Given the description of an element on the screen output the (x, y) to click on. 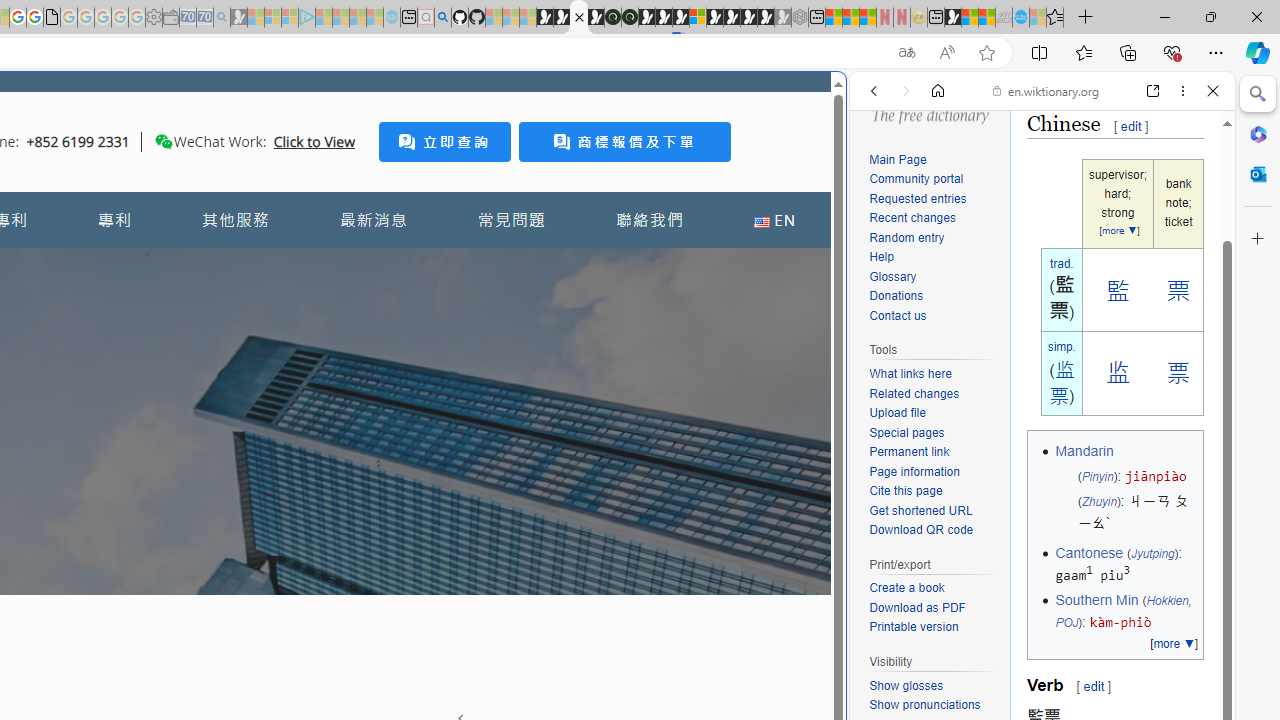
en.wiktionary.org (1046, 90)
Southern Min (1096, 600)
Requested entries (917, 197)
Random entry (906, 236)
Donations (896, 295)
Download QR code (921, 529)
